Given the description of an element on the screen output the (x, y) to click on. 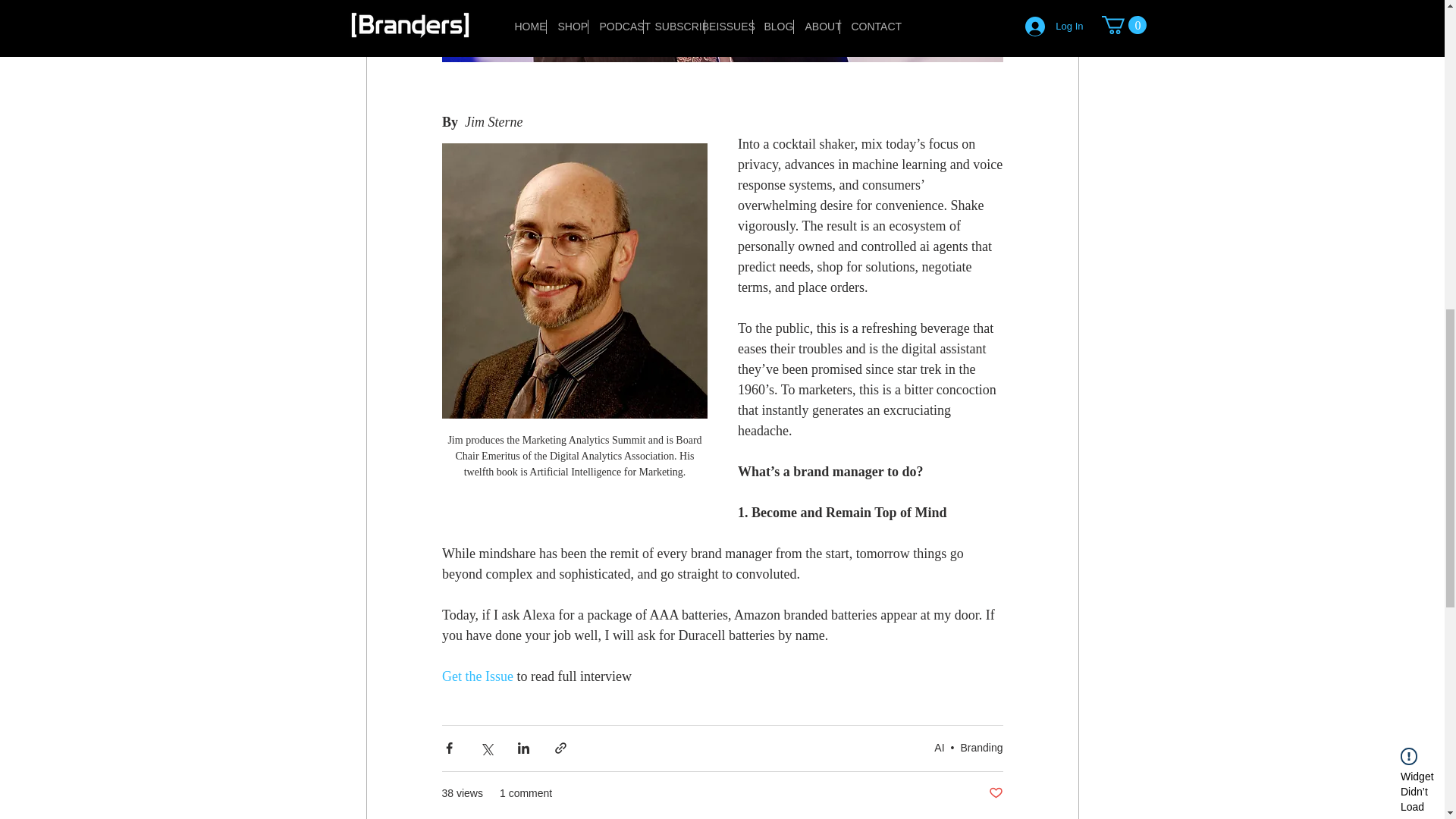
Post not marked as liked (995, 793)
Get the Issue (476, 676)
Branding (981, 747)
